Given the description of an element on the screen output the (x, y) to click on. 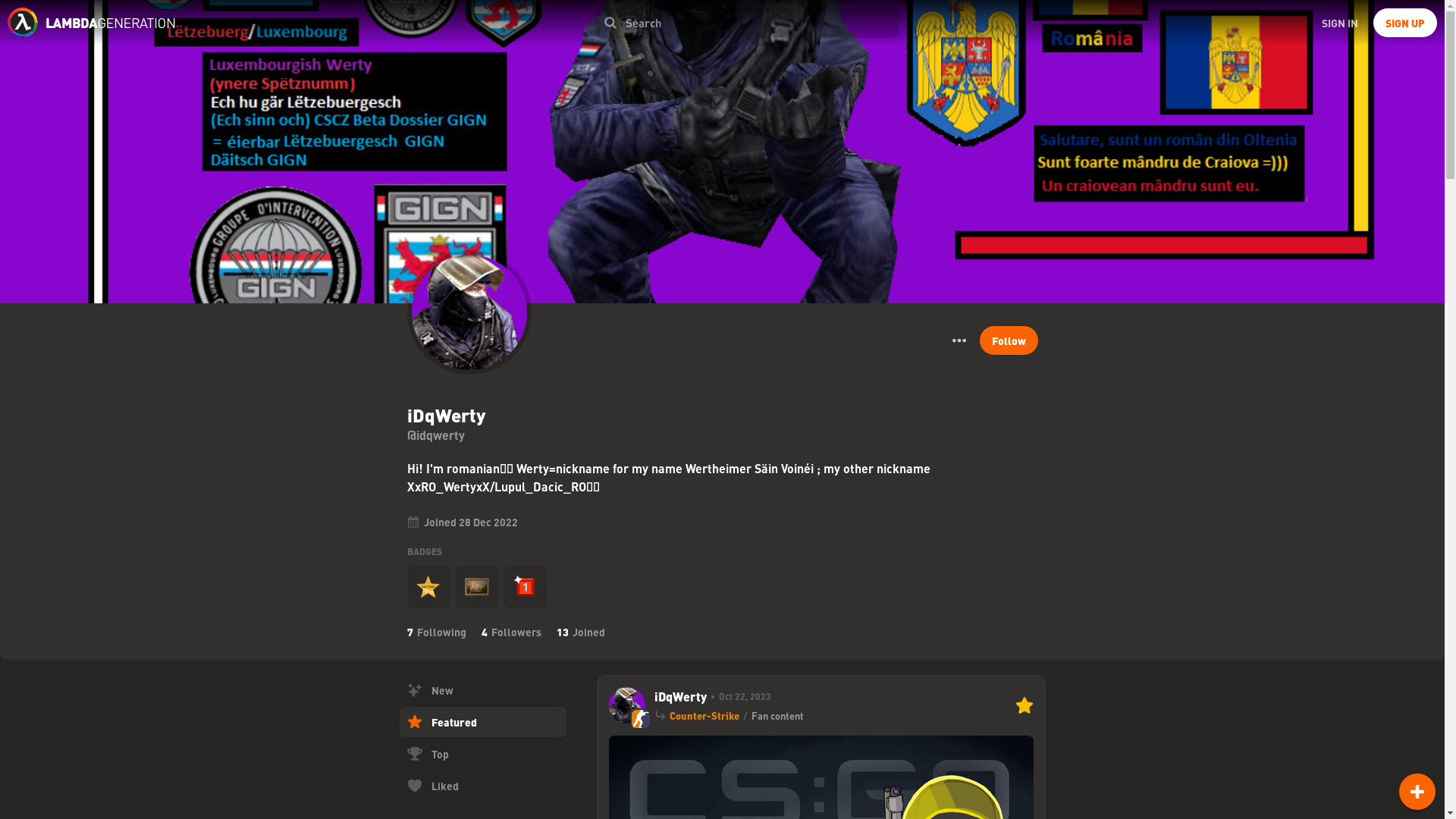
Liked (482, 785)
Counter-Strike (703, 715)
Featured (482, 721)
Top (482, 753)
New (482, 689)
Fan content (777, 715)
Oct 22, 2023 (738, 696)
SIGN UP (1405, 22)
iDqWerty (679, 696)
SIGN IN (1339, 22)
4 Followers (510, 631)
7 Following (435, 631)
13 Joined (580, 631)
